Given the description of an element on the screen output the (x, y) to click on. 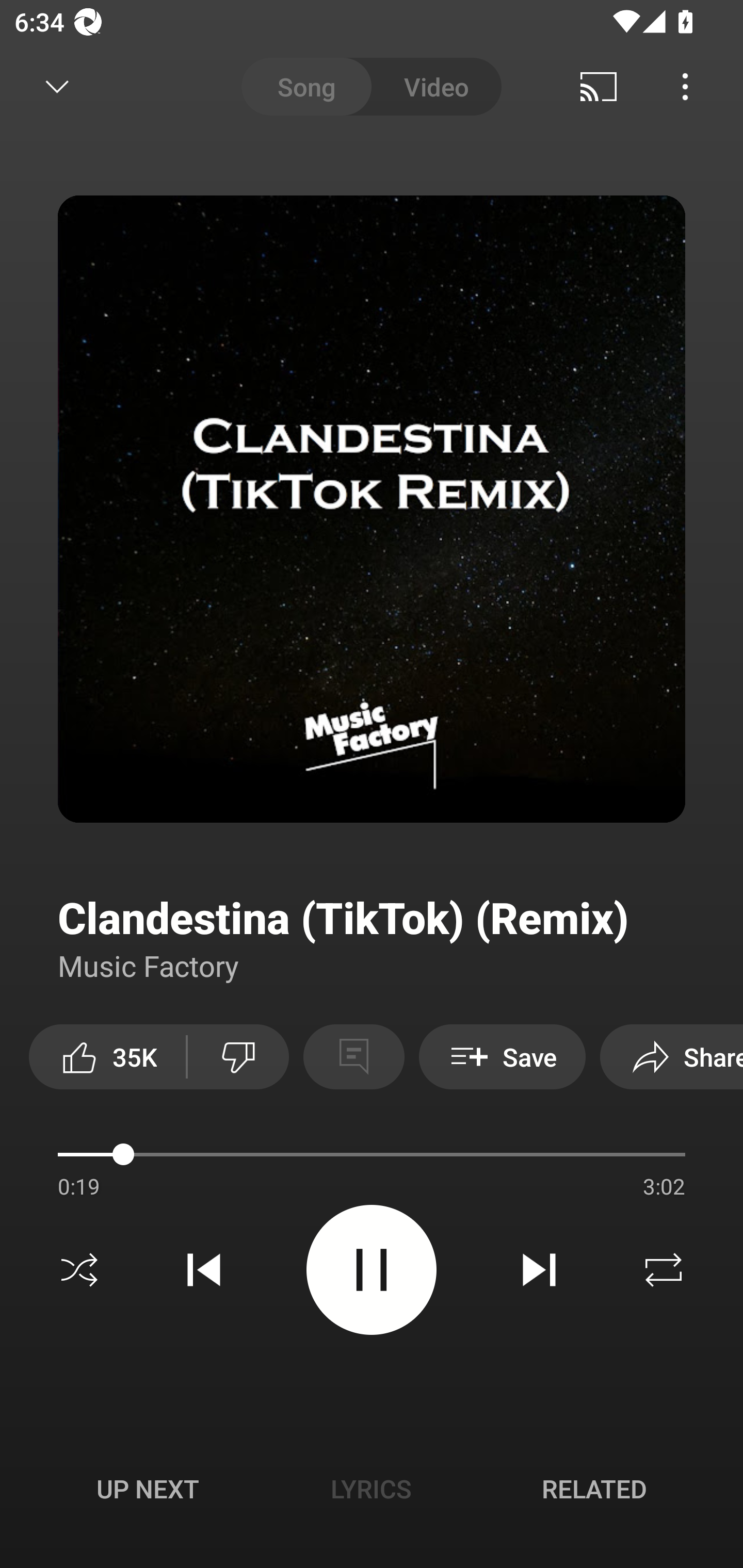
Minimize (57, 86)
Cast. Disconnected (598, 86)
Menu (684, 86)
Music Factory (148, 964)
35K like this video along with 35,710 other people (106, 1056)
Dislike (238, 1056)
Comments disabled. (353, 1056)
Save Save to playlist (502, 1056)
Share (671, 1056)
Pause video (371, 1269)
Shuffle off (79, 1269)
Previous track (203, 1269)
Next track (538, 1269)
Repeat off (663, 1269)
Up next UP NEXT Lyrics LYRICS Related RELATED (371, 1491)
Lyrics LYRICS (370, 1488)
Related RELATED (594, 1488)
